Given the description of an element on the screen output the (x, y) to click on. 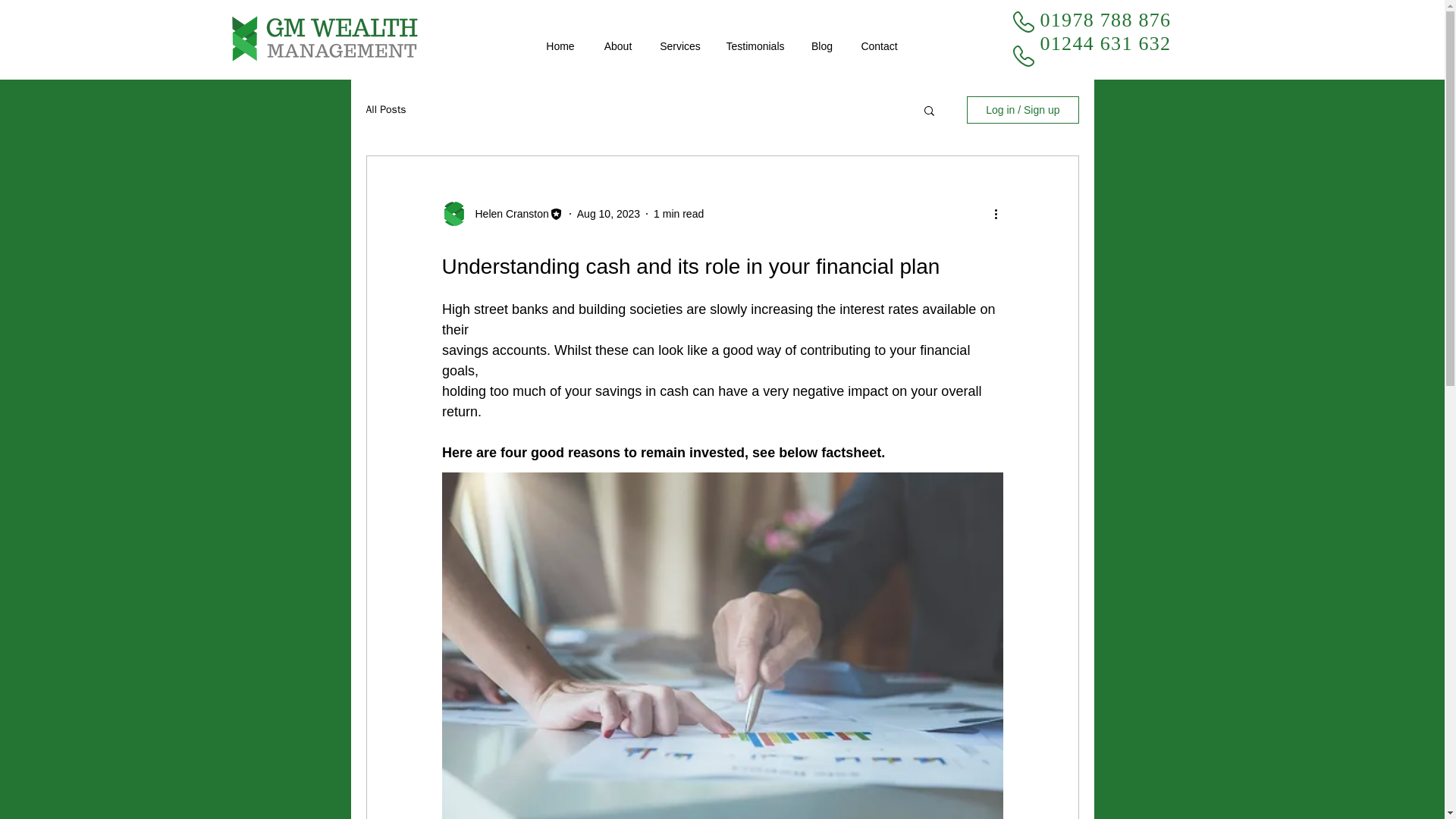
Helen Cranston (506, 213)
01244 631 632 (1106, 43)
About (617, 46)
Contact (878, 46)
Testimonials (754, 46)
01978 788 876 (1106, 20)
Blog (822, 46)
Home (560, 46)
All Posts (385, 110)
Services (680, 46)
Aug 10, 2023 (608, 214)
1 min read (678, 214)
